Given the description of an element on the screen output the (x, y) to click on. 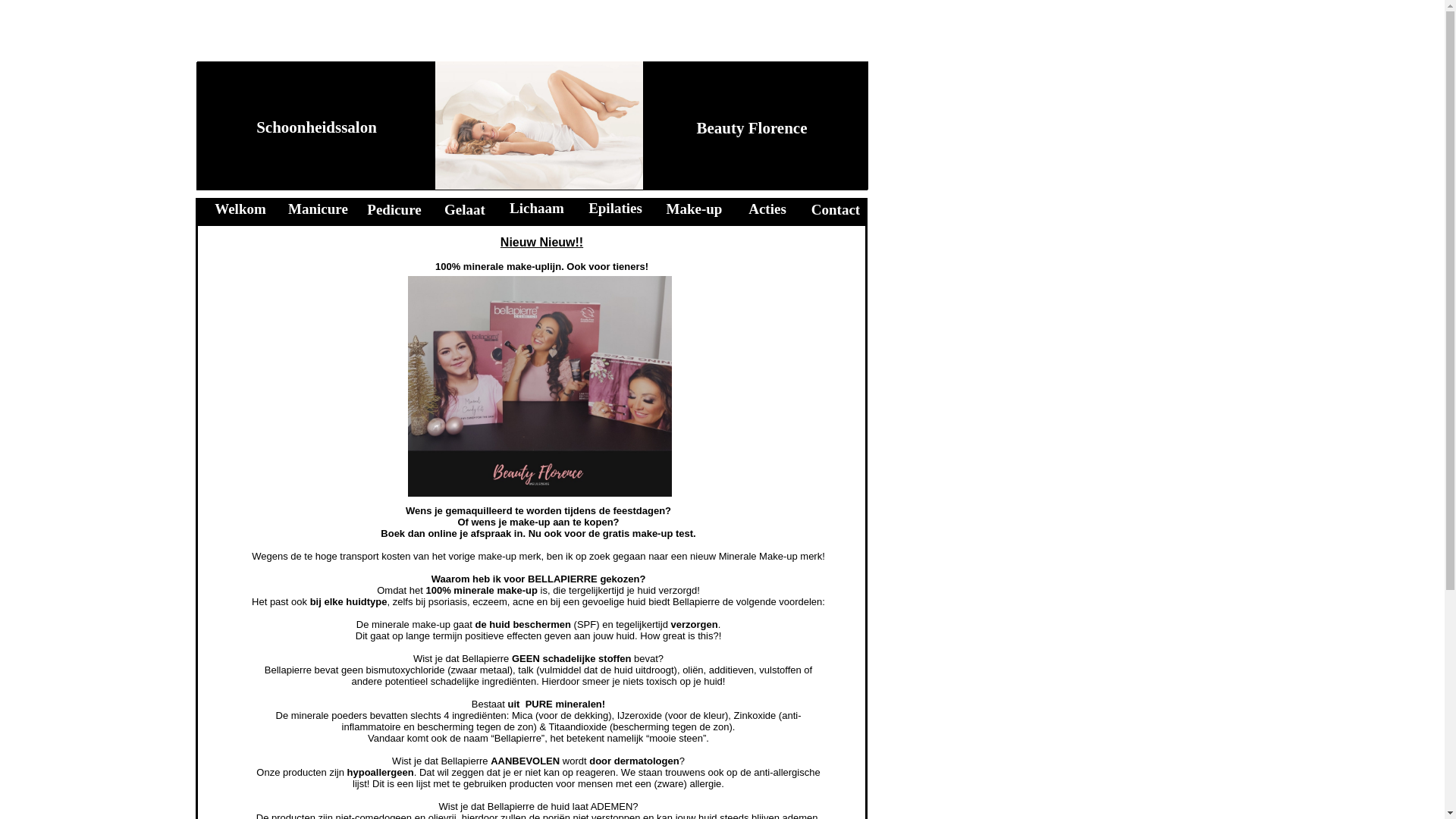
Manicure Element type: text (318, 208)
Contact Element type: text (835, 209)
Acties Element type: text (767, 208)
Gelaat Element type: text (464, 209)
Epilaties Element type: text (615, 208)
Lichaam Element type: text (536, 208)
Make-up Element type: text (694, 208)
Pedicure Element type: text (393, 209)
Welkom Element type: text (240, 208)
